Given the description of an element on the screen output the (x, y) to click on. 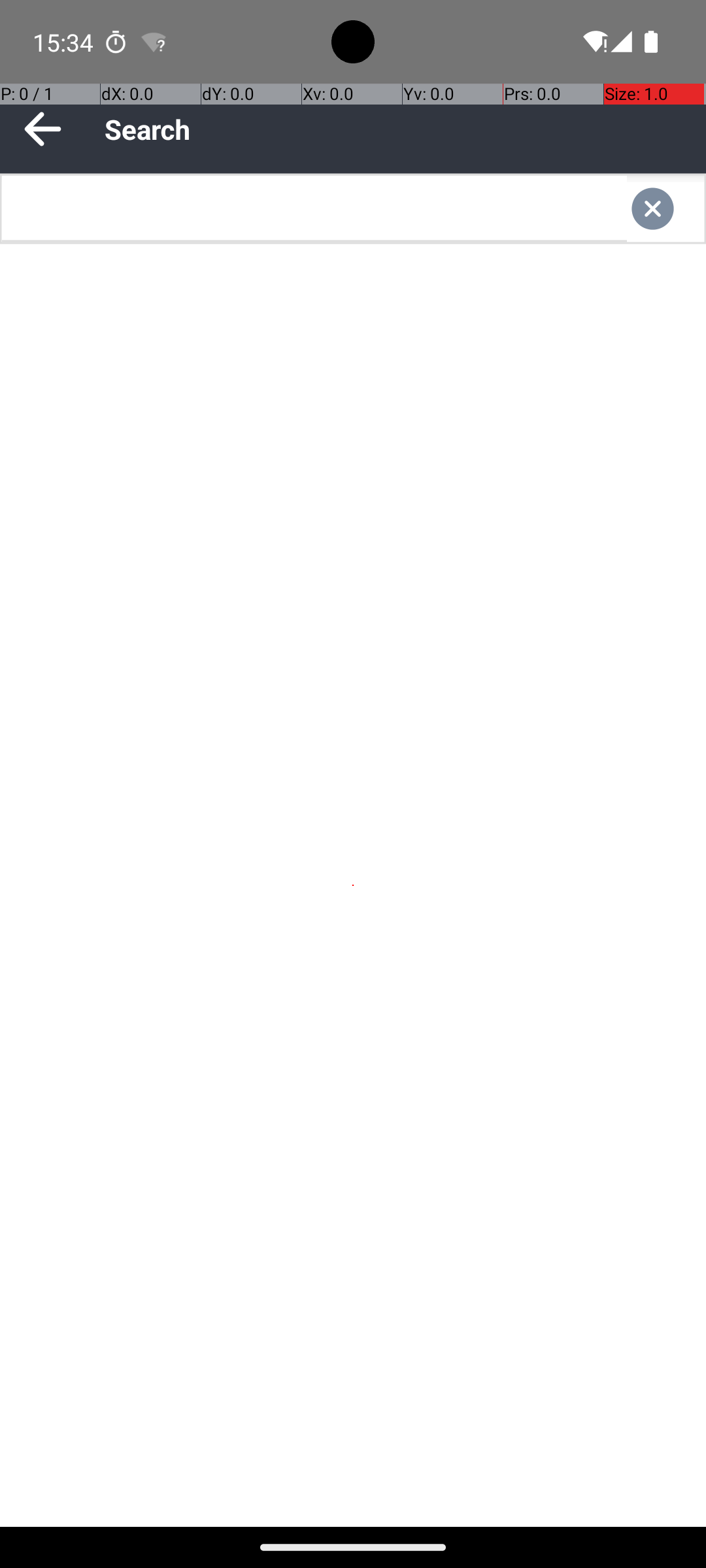
Clear Element type: android.view.ViewGroup (665, 208)
 Element type: android.widget.TextView (665, 208)
